Given the description of an element on the screen output the (x, y) to click on. 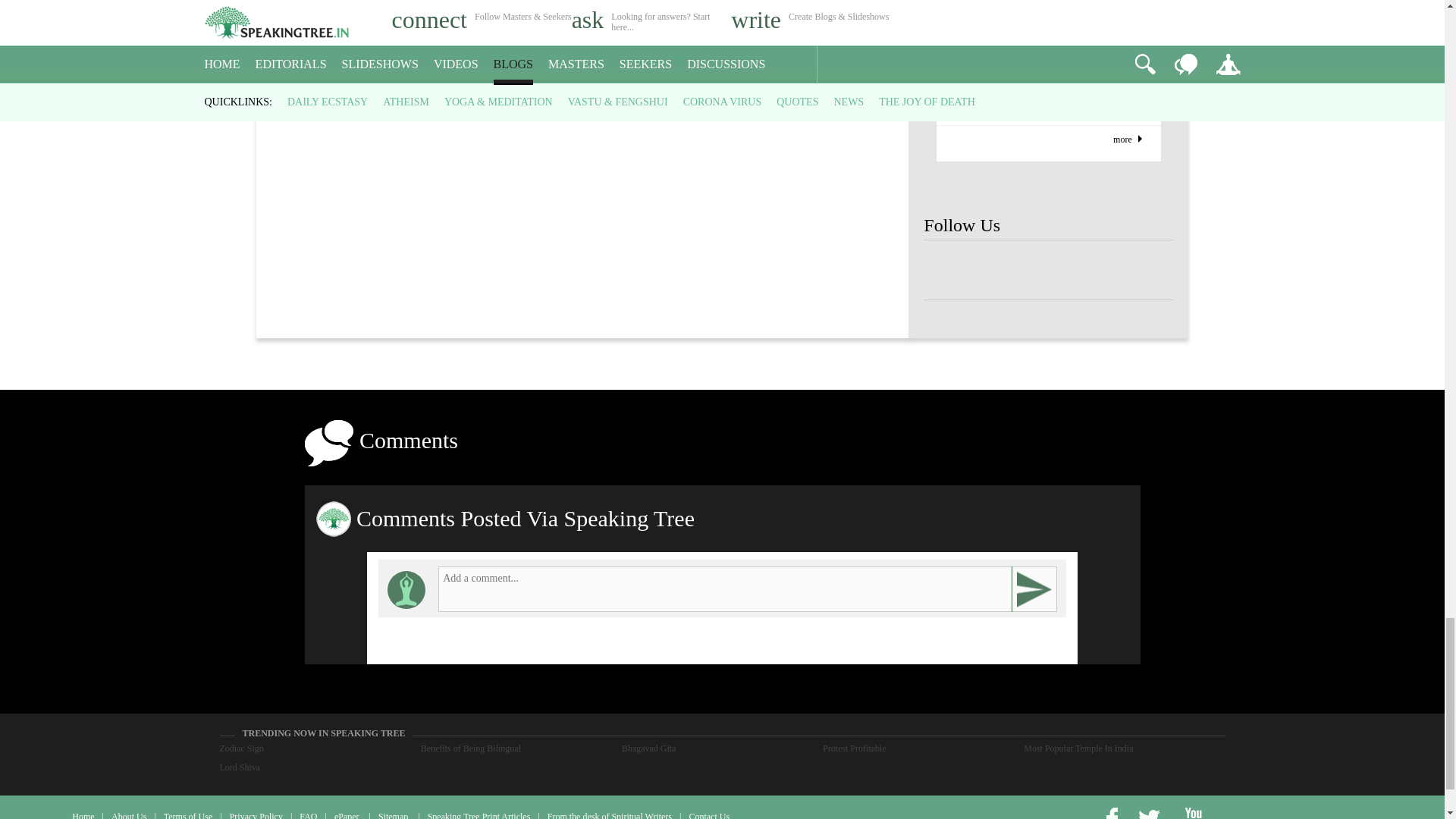
Speaking Tree FaceBook (1099, 270)
Speaking Tree FaceBook (998, 270)
Speaking Tree FaceBook (1048, 270)
Speaking Tree FaceBook (1147, 270)
Speaking Tree FaceBook (948, 270)
